Given the description of an element on the screen output the (x, y) to click on. 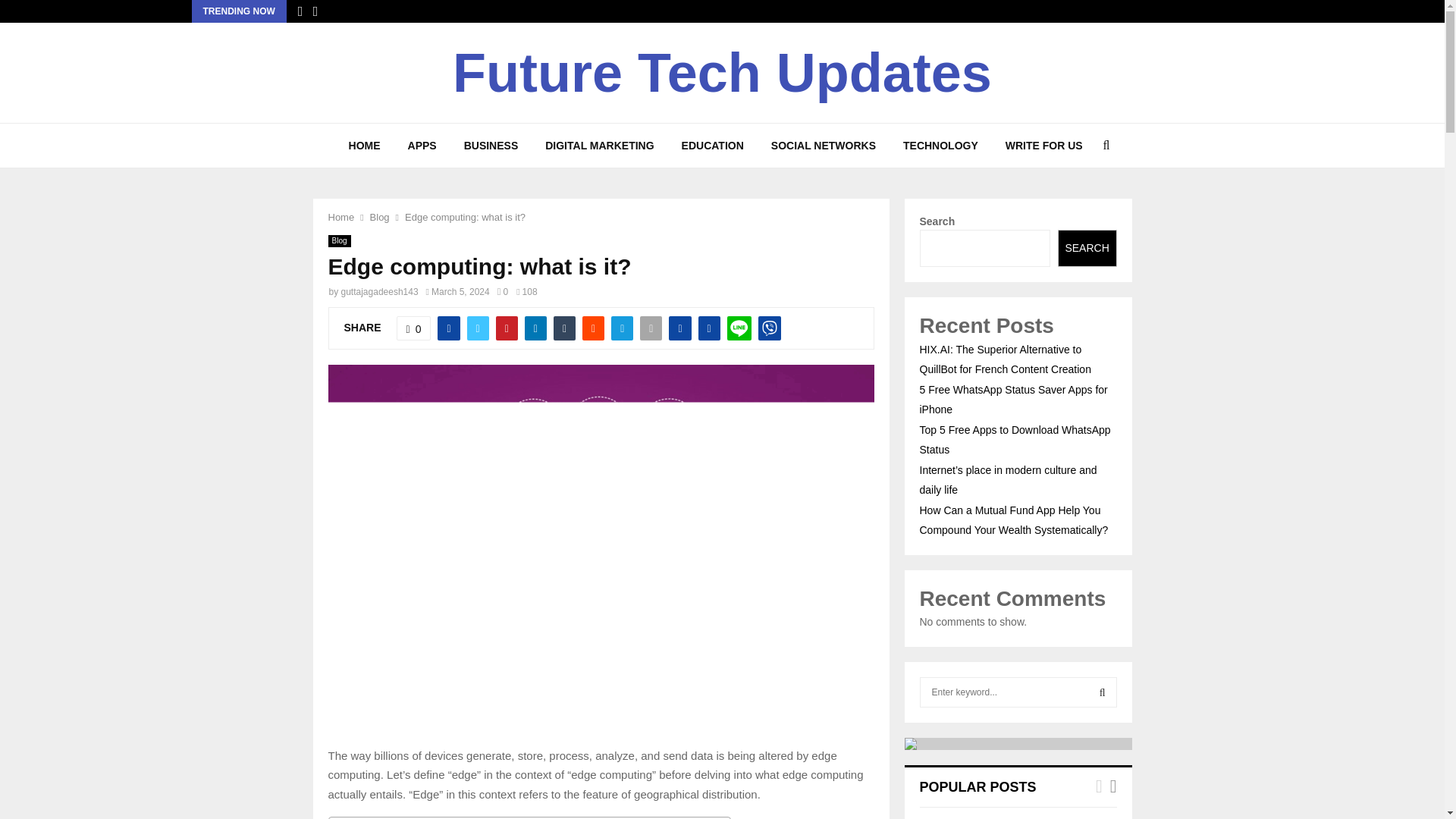
Blog (338, 241)
BUSINESS (490, 145)
Blog (379, 216)
Edge computing: what is it? (464, 216)
0 (413, 328)
Home (340, 216)
SOCIAL NETWORKS (823, 145)
HOME (364, 145)
WRITE FOR US (1043, 145)
Like (413, 328)
EDUCATION (712, 145)
guttajagadeesh143 (379, 291)
TECHNOLOGY (940, 145)
Future Tech Updates (721, 72)
DIGITAL MARKETING (598, 145)
